Given the description of an element on the screen output the (x, y) to click on. 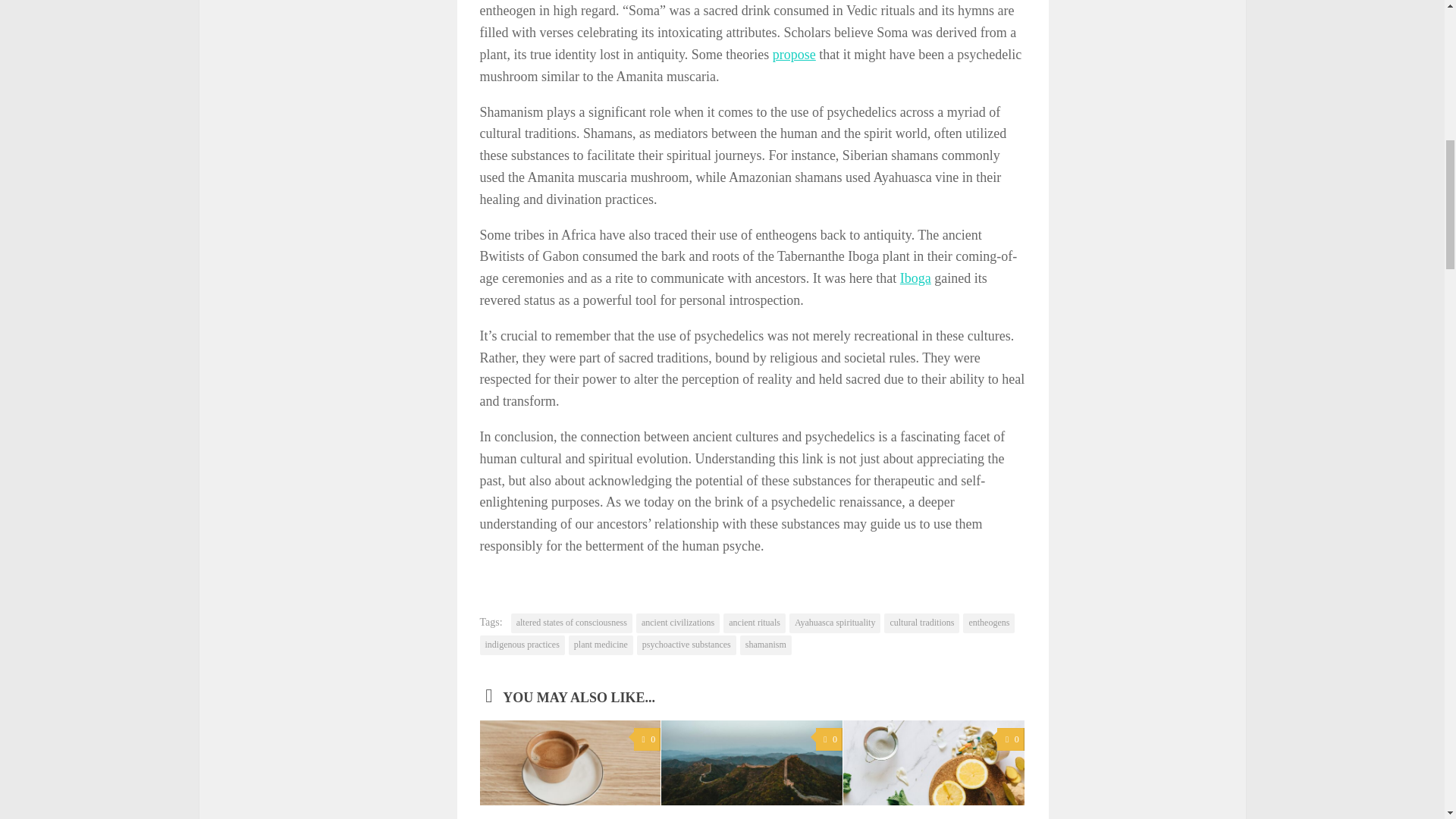
0 (1010, 739)
plant medicine (601, 645)
entheogens (988, 623)
altered states of consciousness (571, 623)
0 (647, 739)
ancient rituals (754, 623)
cultural traditions (921, 623)
shamanism (765, 645)
ancient civilizations (677, 623)
psychoactive substances (686, 645)
